Given the description of an element on the screen output the (x, y) to click on. 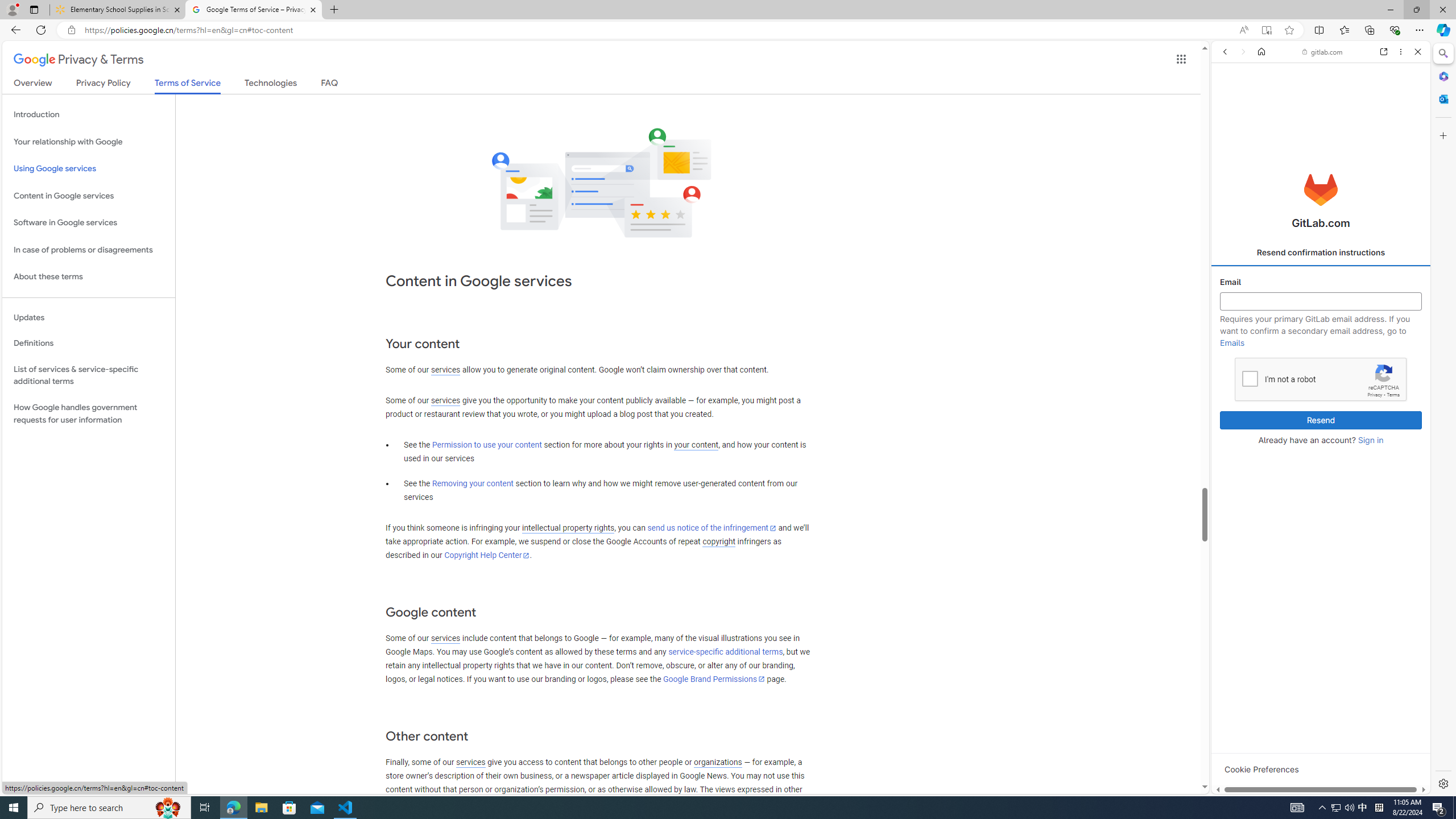
Settings (1442, 783)
Restore (1416, 9)
Close Search pane (1442, 53)
Enter Immersive Reader (F9) (1266, 29)
Forward (1242, 51)
Global web icon (1232, 638)
GitLab (1277, 794)
Home (1261, 51)
Side bar (1443, 418)
Emails (1232, 342)
About GitLab (1320, 336)
Address and search bar (658, 29)
